Given the description of an element on the screen output the (x, y) to click on. 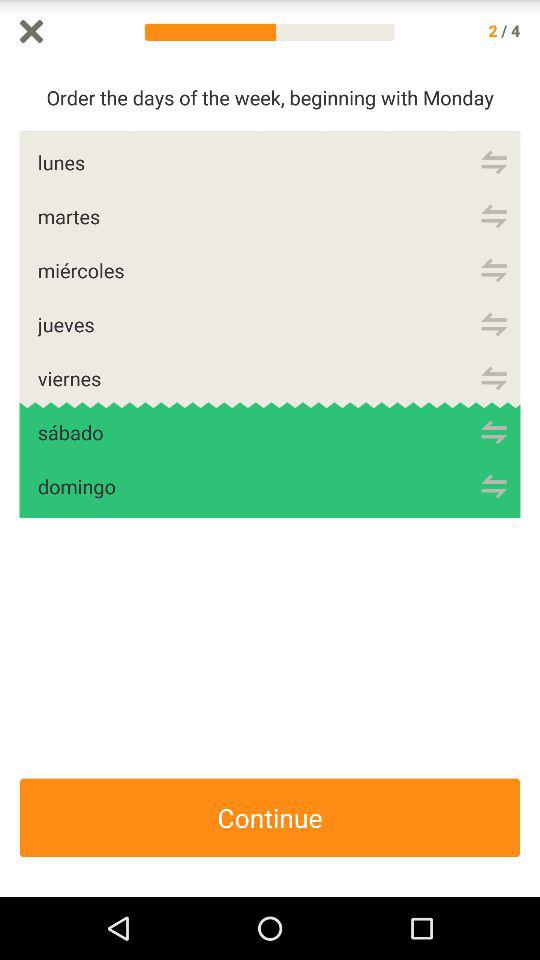
order monday (494, 162)
